Given the description of an element on the screen output the (x, y) to click on. 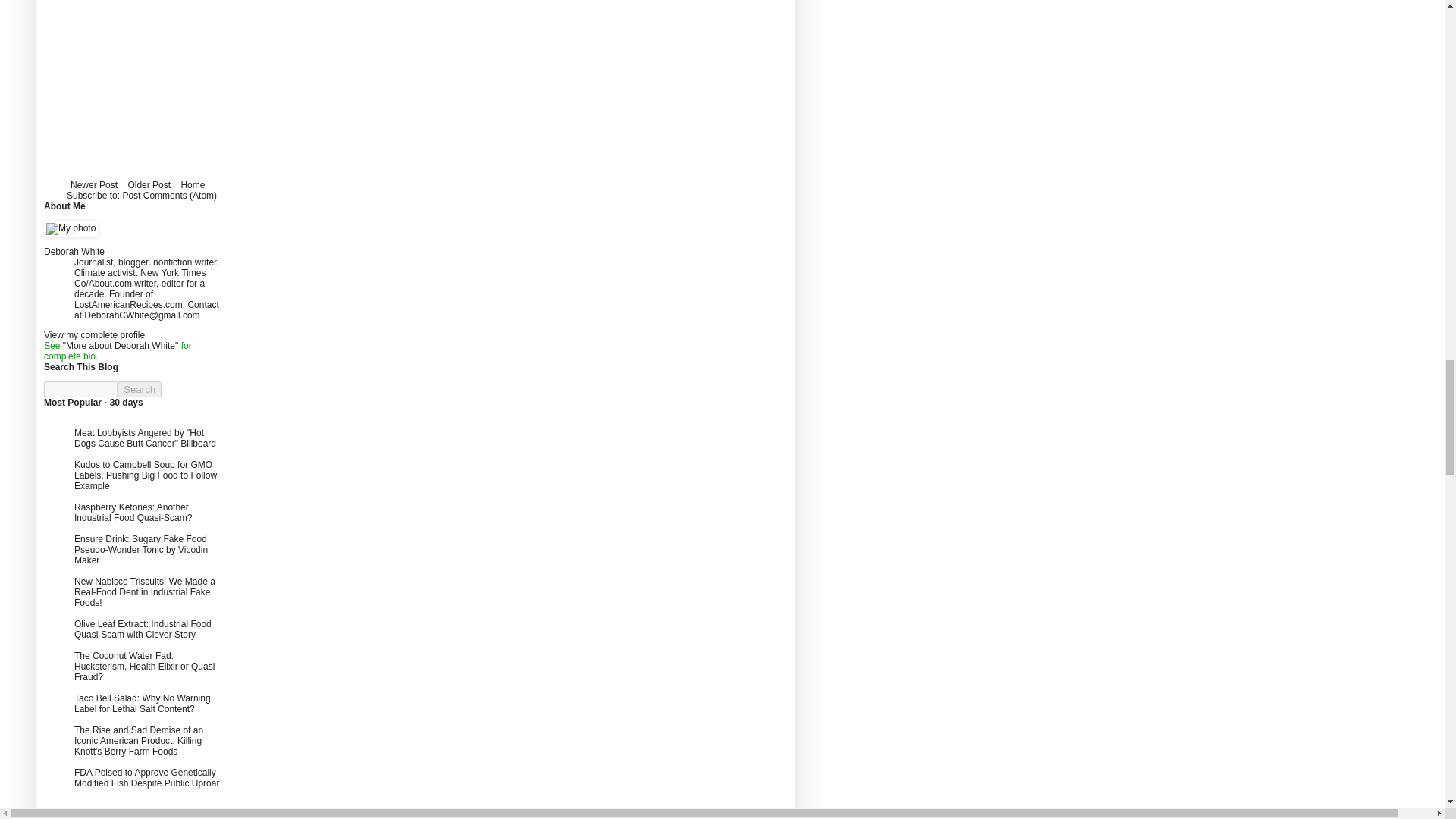
search (80, 389)
Search (139, 389)
Newer Post (93, 185)
search (139, 389)
Older Post (148, 185)
Search (139, 389)
